Given the description of an element on the screen output the (x, y) to click on. 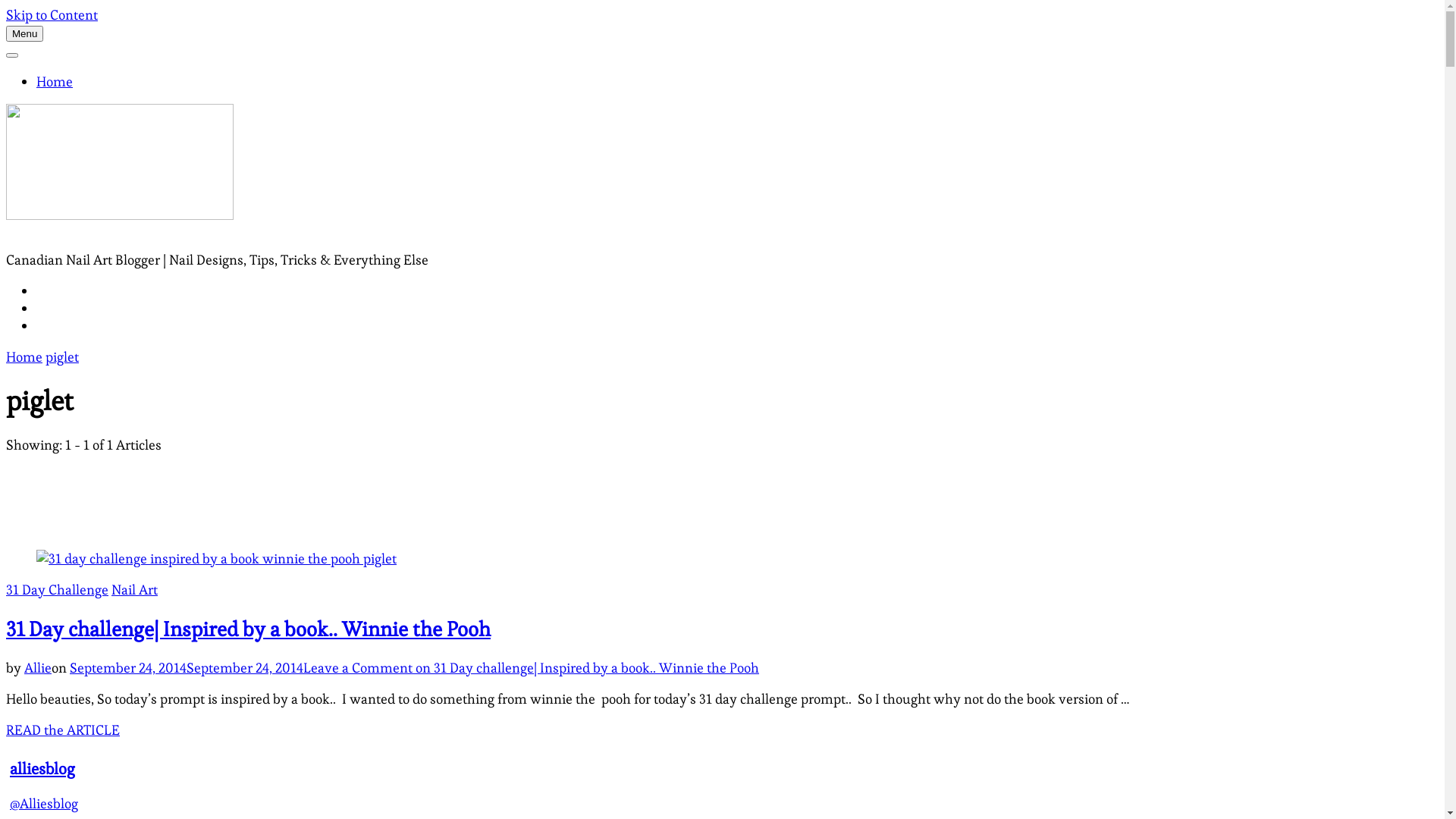
September 24, 2014September 24, 2014 Element type: text (186, 667)
Home Element type: text (54, 81)
Skip to Content Element type: text (51, 14)
Advertisement Element type: hover (721, 492)
31 Day challenge| Inspired by a book.. Winnie the Pooh Element type: text (248, 628)
Nail Art Element type: text (134, 589)
Menu Element type: text (24, 33)
piglet Element type: text (61, 356)
Allie Element type: text (37, 667)
31 Day Challenge Element type: text (57, 589)
Home Element type: text (24, 356)
READ the ARTICLE Element type: text (62, 729)
